Given the description of an element on the screen output the (x, y) to click on. 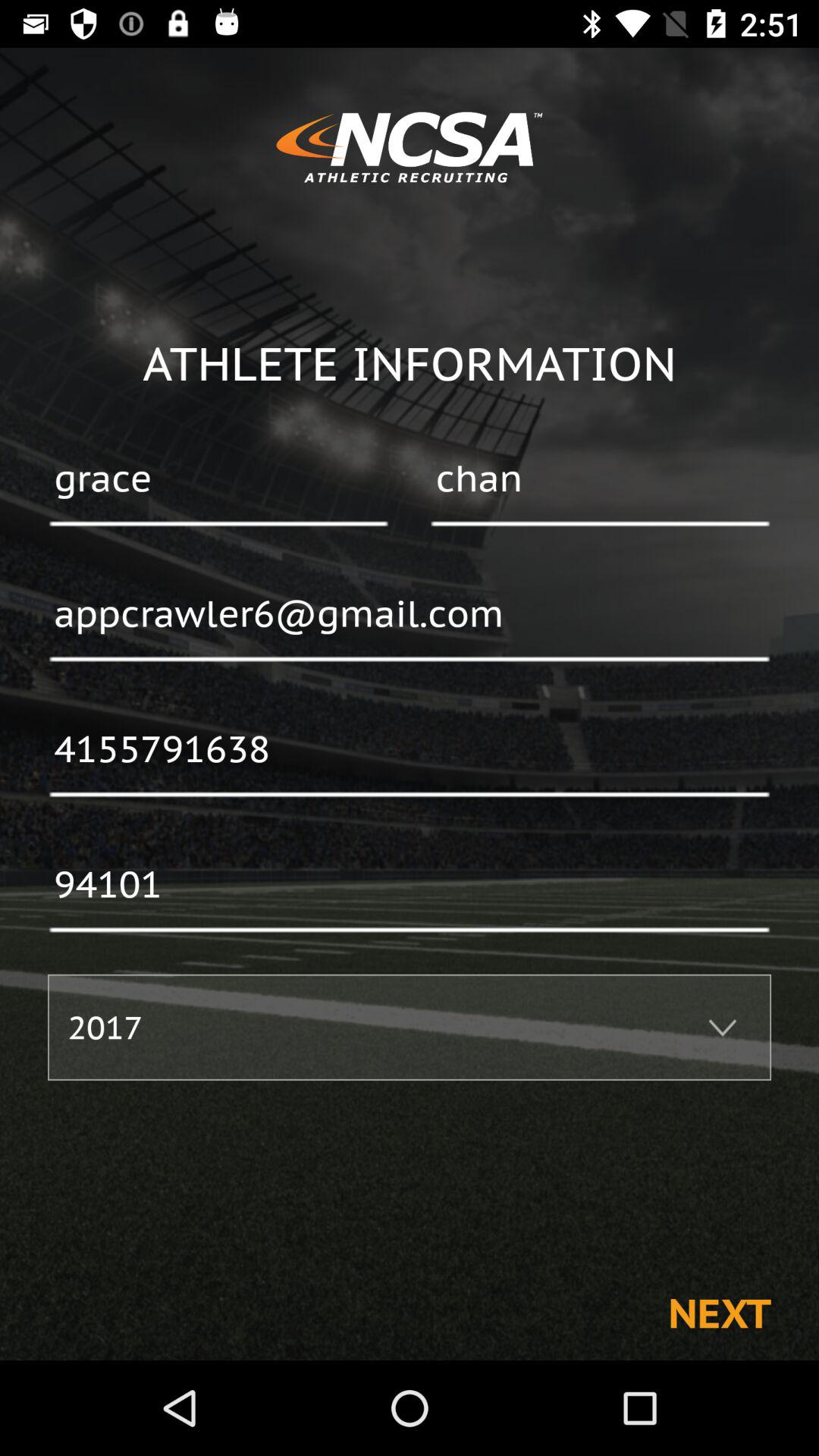
launch icon to the right of grace (600, 479)
